Given the description of an element on the screen output the (x, y) to click on. 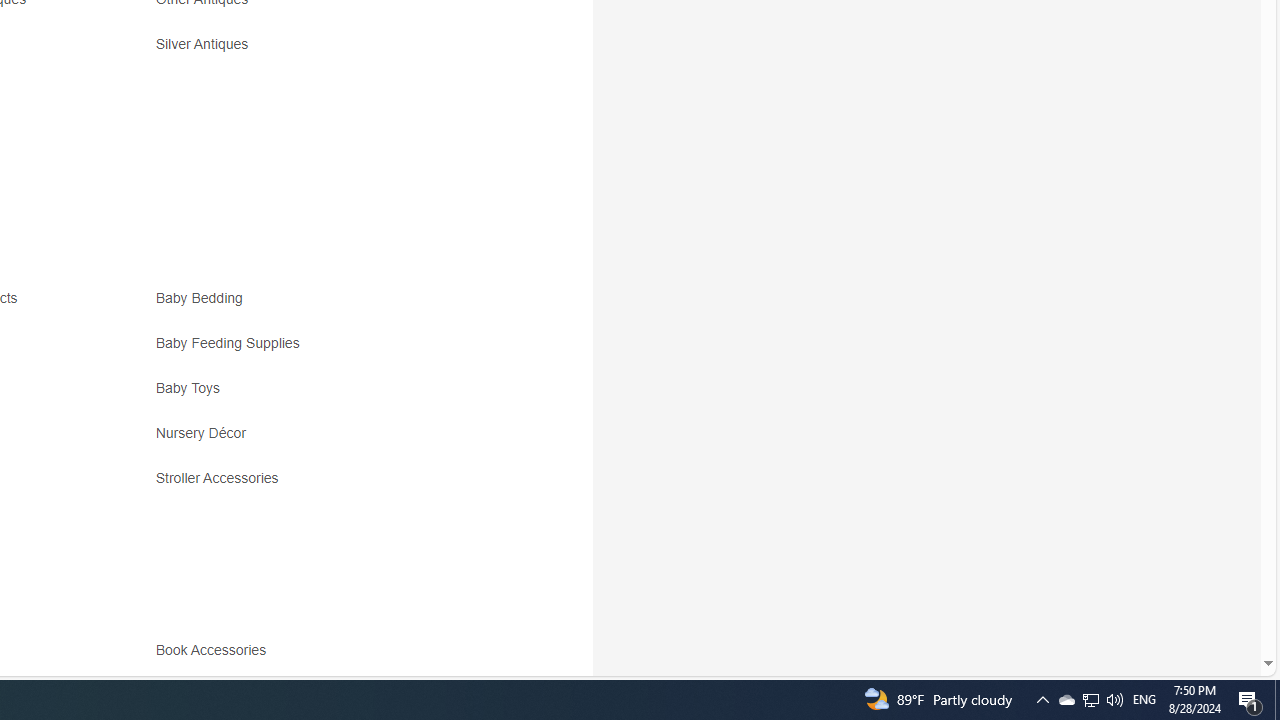
Baby Bedding (203, 298)
Baby Feeding Supplies (231, 343)
Book Accessories (332, 657)
Baby Toys (332, 395)
Silver Antiques (332, 51)
Stroller Accessories (221, 478)
Stroller Accessories (332, 485)
Silver Antiques (206, 43)
Baby Toys (192, 388)
Baby Bedding (332, 305)
Baby Feeding Supplies (332, 349)
Book Accessories (215, 650)
